Given the description of an element on the screen output the (x, y) to click on. 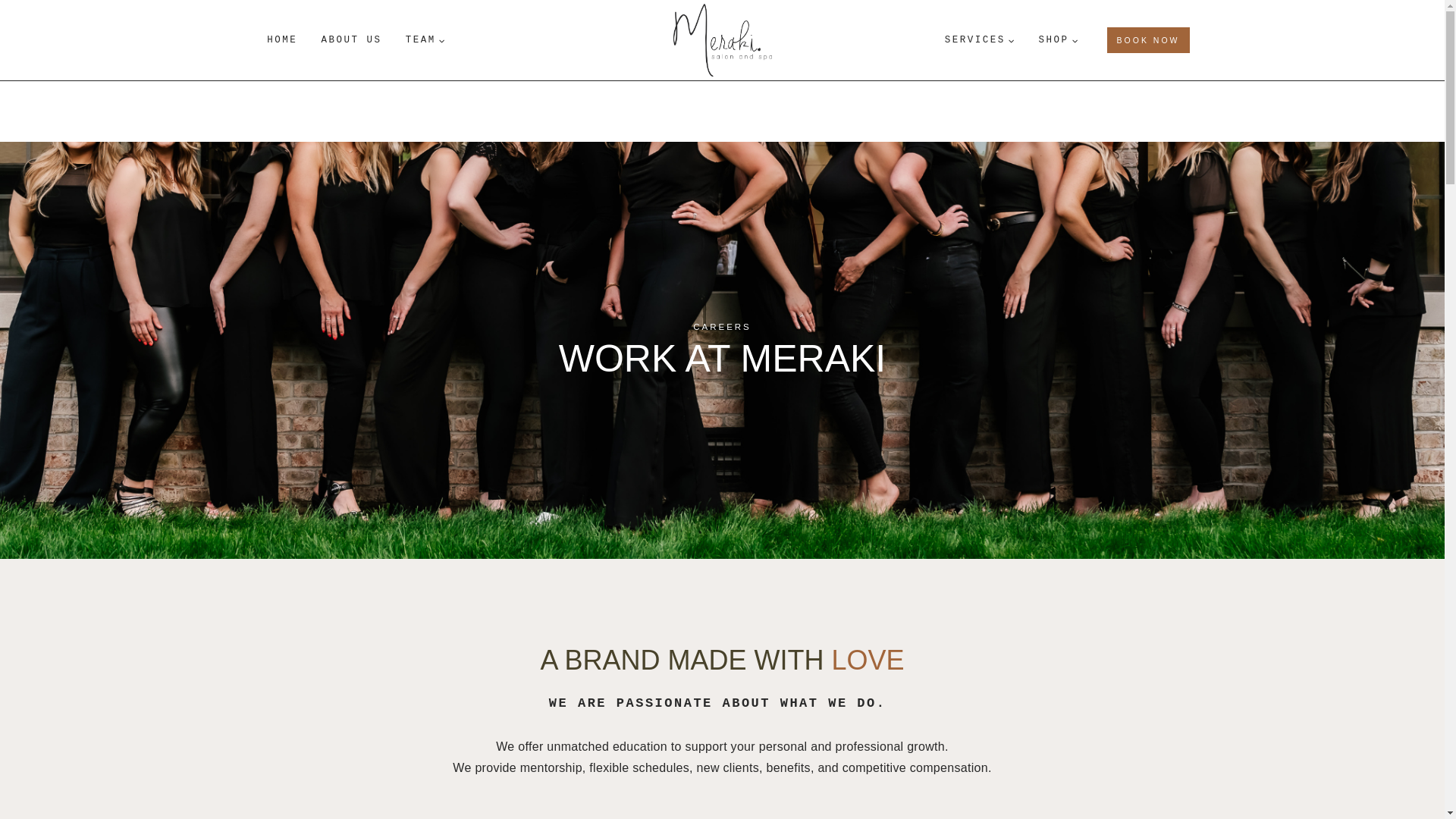
ABOUT US (350, 39)
BOOK NOW (1147, 40)
TEAM (425, 39)
SHOP (1058, 39)
SERVICES (979, 39)
HOME (281, 39)
